Given the description of an element on the screen output the (x, y) to click on. 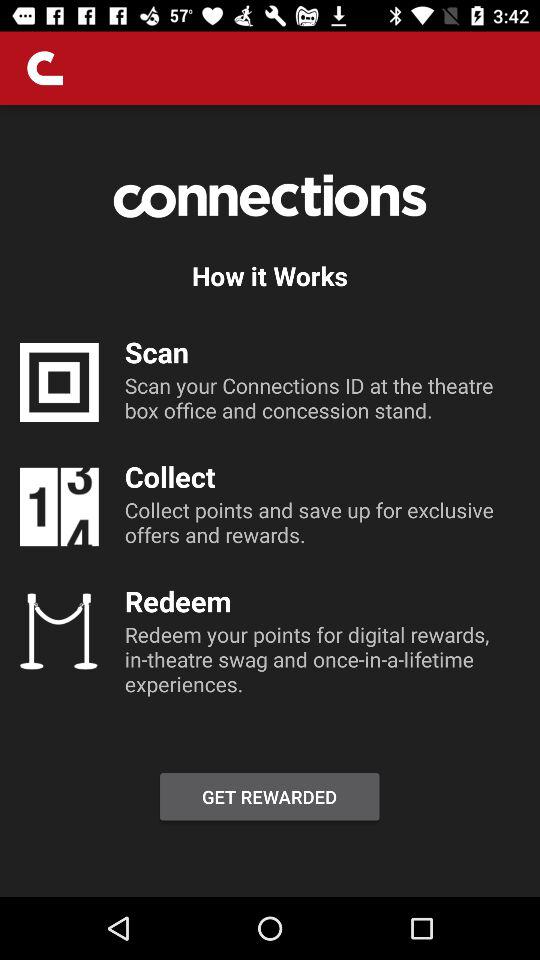
launch item below redeem your points item (269, 796)
